Given the description of an element on the screen output the (x, y) to click on. 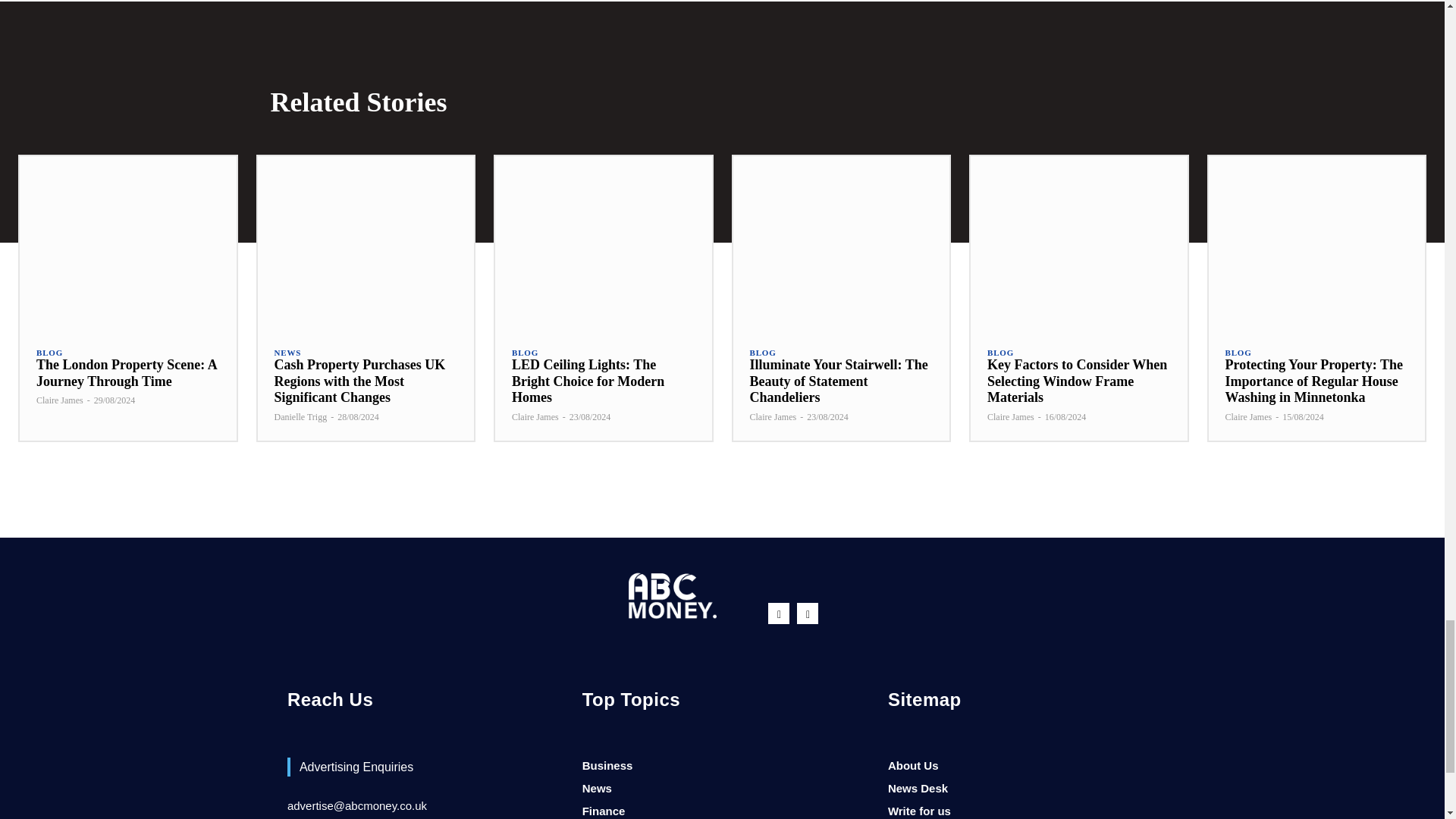
The London Property Scene: A Journey Through Time (126, 373)
The London Property Scene: A Journey Through Time (127, 242)
